Given the description of an element on the screen output the (x, y) to click on. 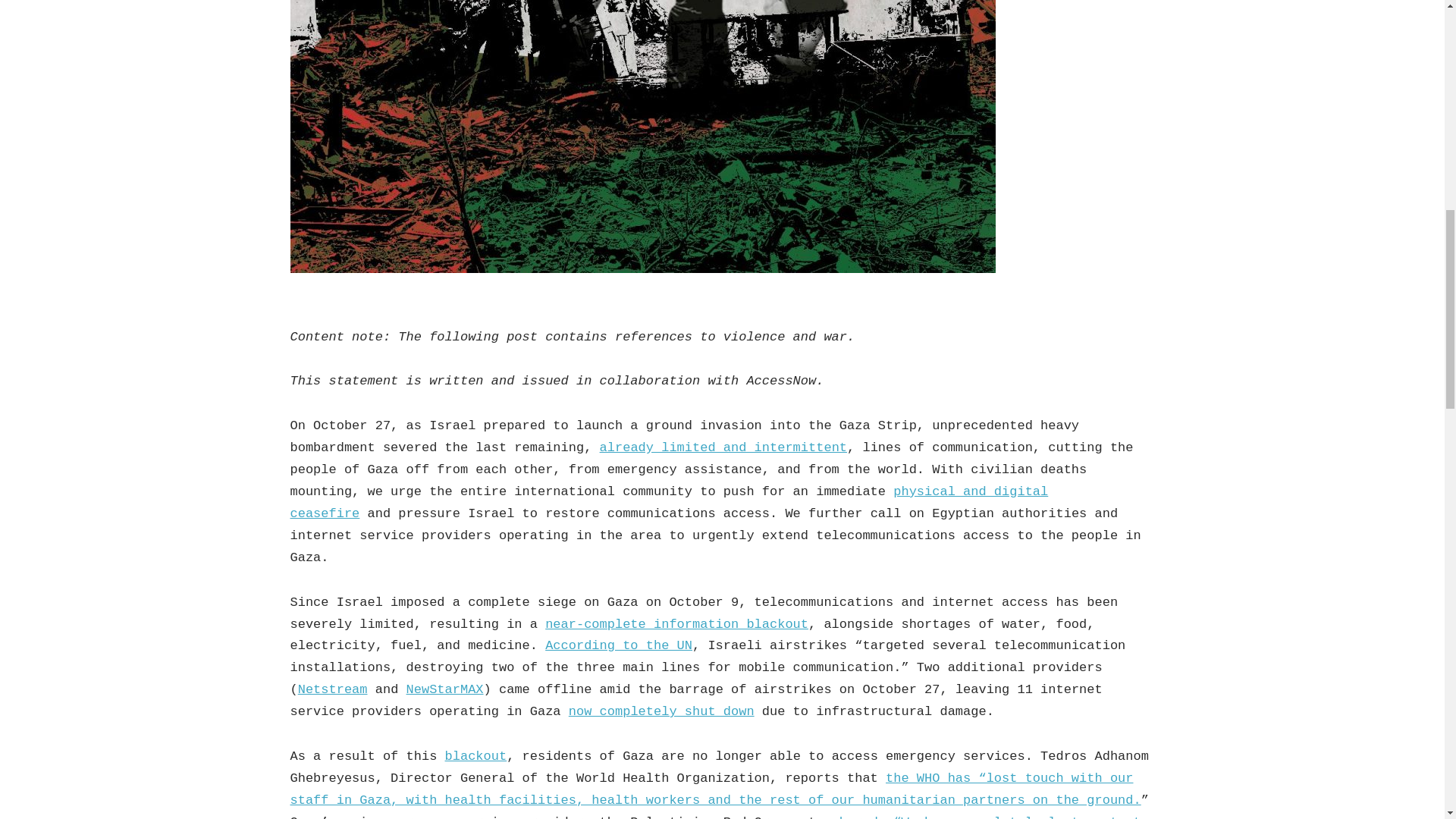
blackout (475, 756)
near-complete information blackout (676, 624)
According to the UN (618, 645)
physical and digital ceasefire (668, 502)
NewStarMAX (444, 689)
now completely shut down (661, 711)
already limited and intermittent (723, 447)
Netstream (333, 689)
